Given the description of an element on the screen output the (x, y) to click on. 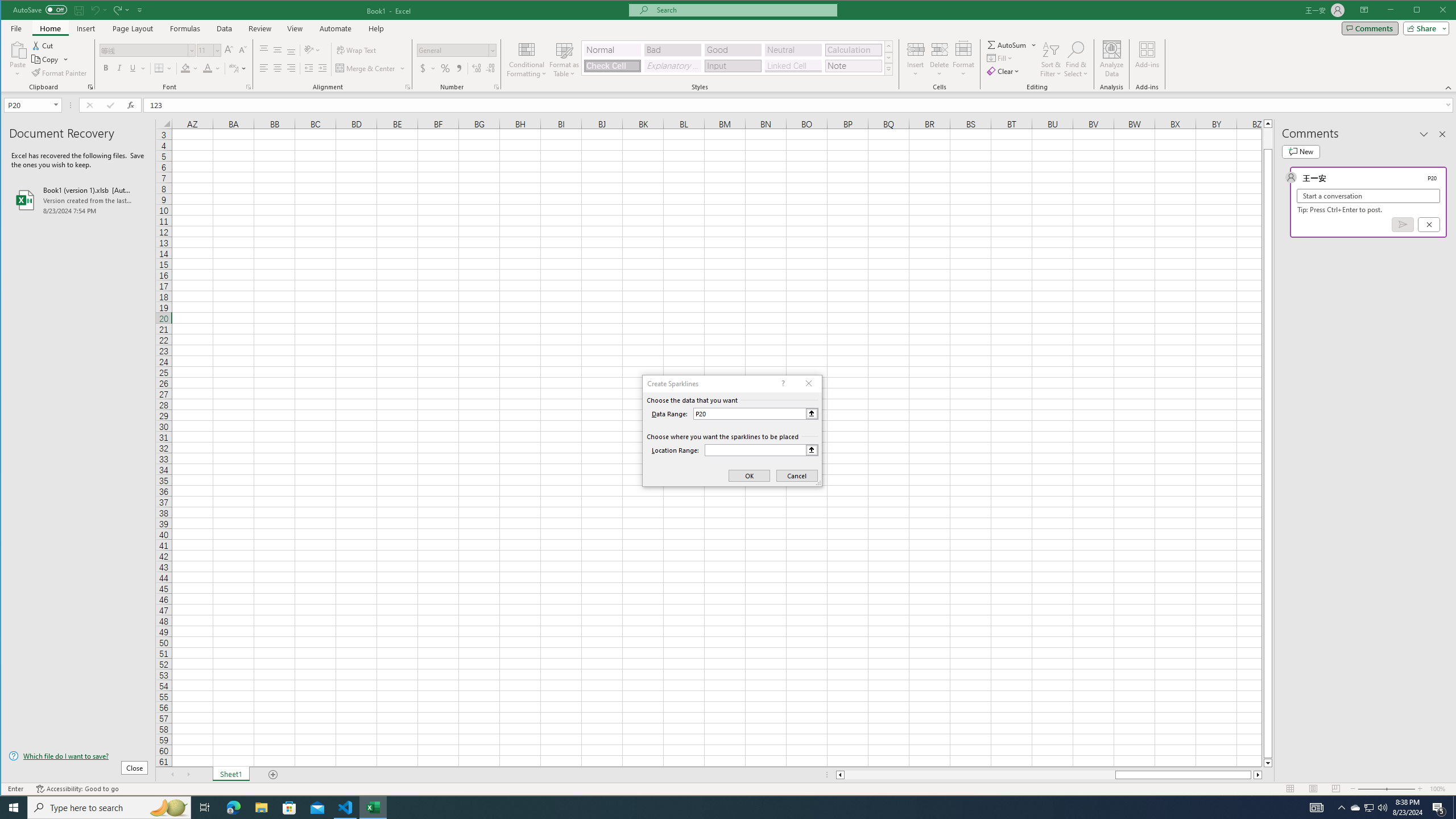
Bottom Border (158, 68)
Note (853, 65)
Decrease Font Size (241, 49)
Comma Style (458, 68)
Format Cell Alignment (407, 86)
Format as Table (564, 59)
Bad (672, 49)
Number Format (453, 50)
Top Align (263, 49)
Explanatory Text (672, 65)
